Given the description of an element on the screen output the (x, y) to click on. 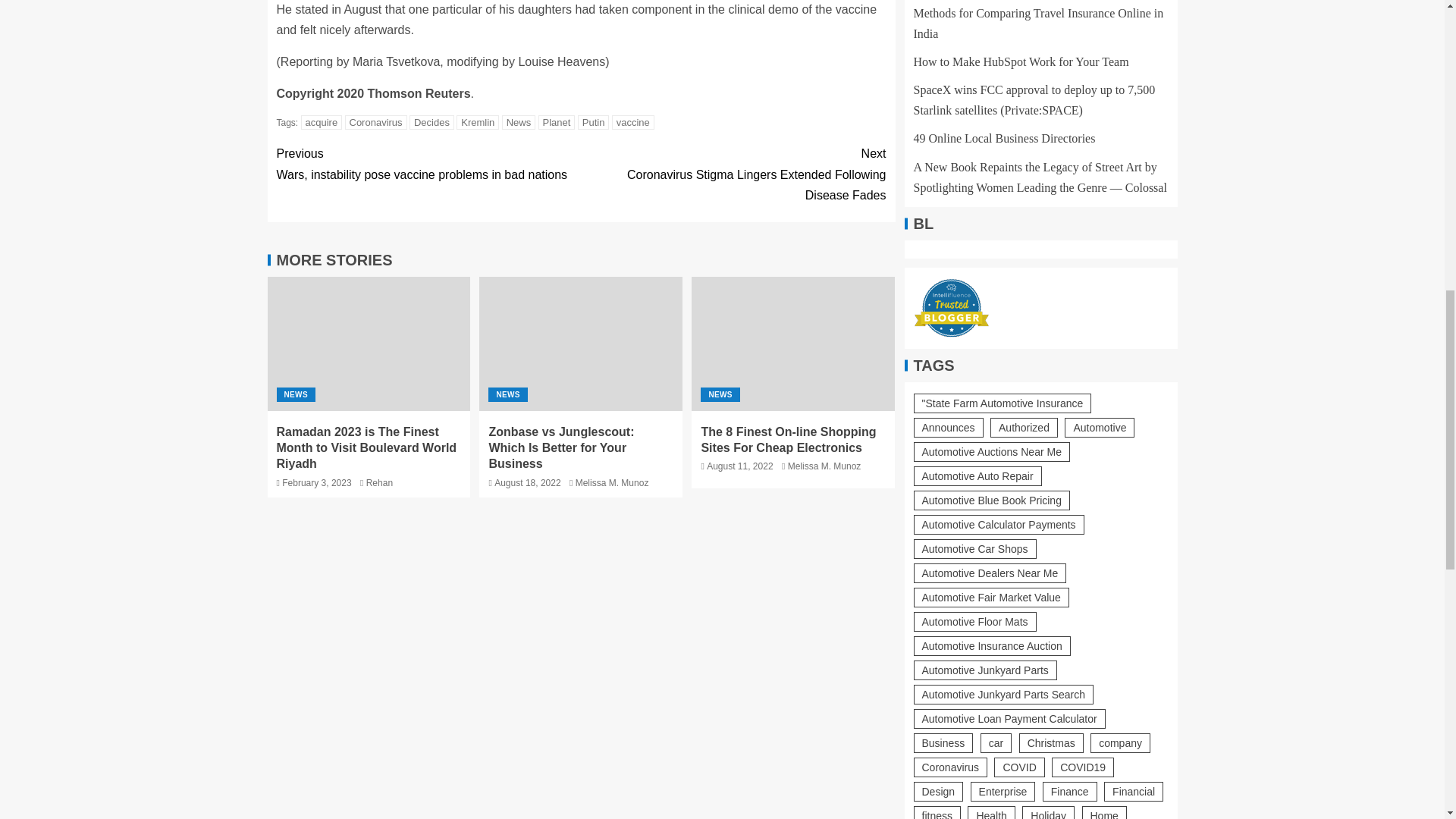
NEWS (507, 394)
acquire (321, 122)
Coronavirus (374, 122)
Kremlin (478, 122)
Decides (431, 122)
News (518, 122)
Putin (594, 122)
Planet (556, 122)
NEWS (295, 394)
vaccine (632, 122)
Rehan (379, 482)
